Given the description of an element on the screen output the (x, y) to click on. 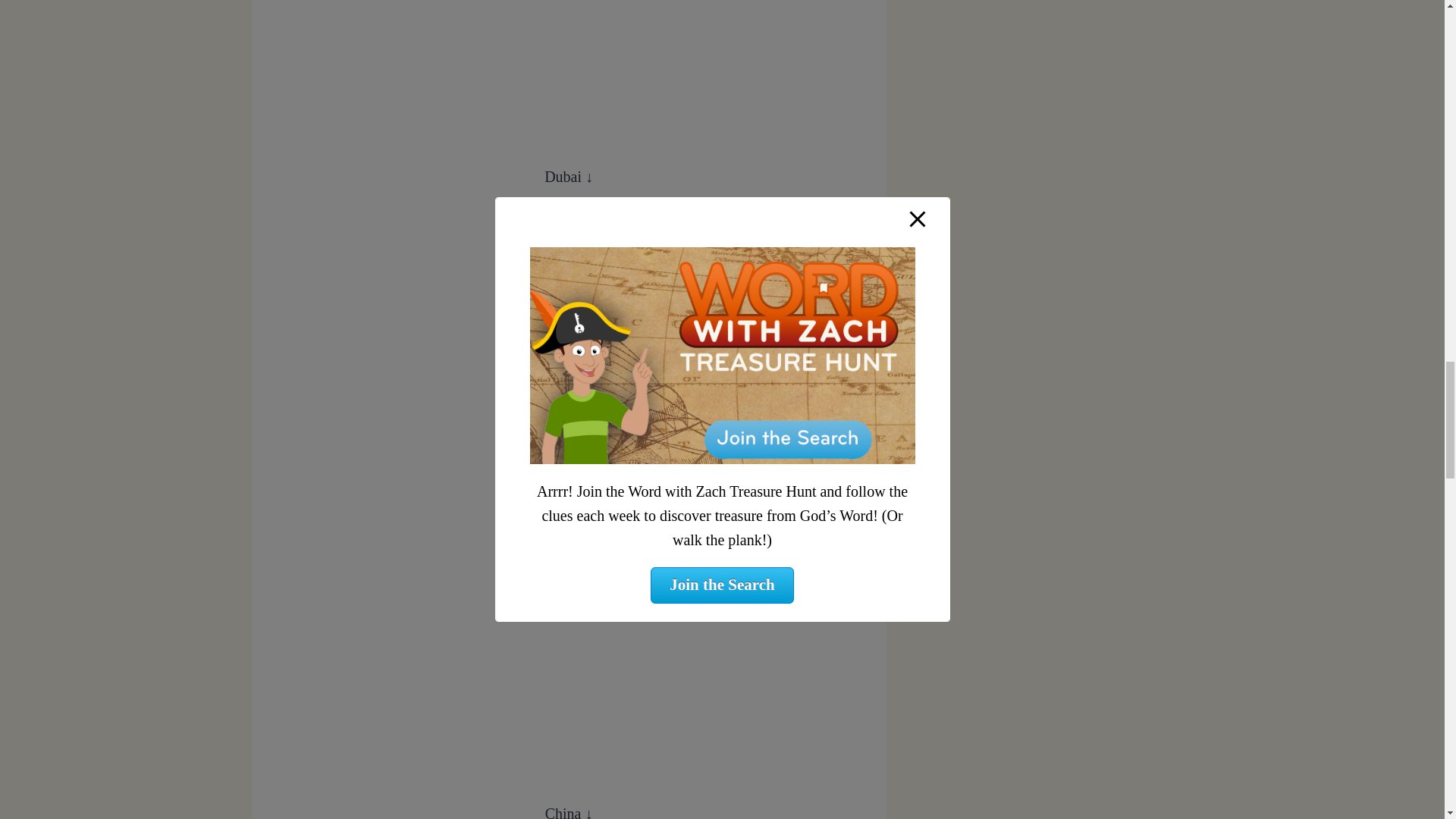
YouTube video player (568, 66)
YouTube video player (568, 650)
YouTube video player (568, 332)
